Given the description of an element on the screen output the (x, y) to click on. 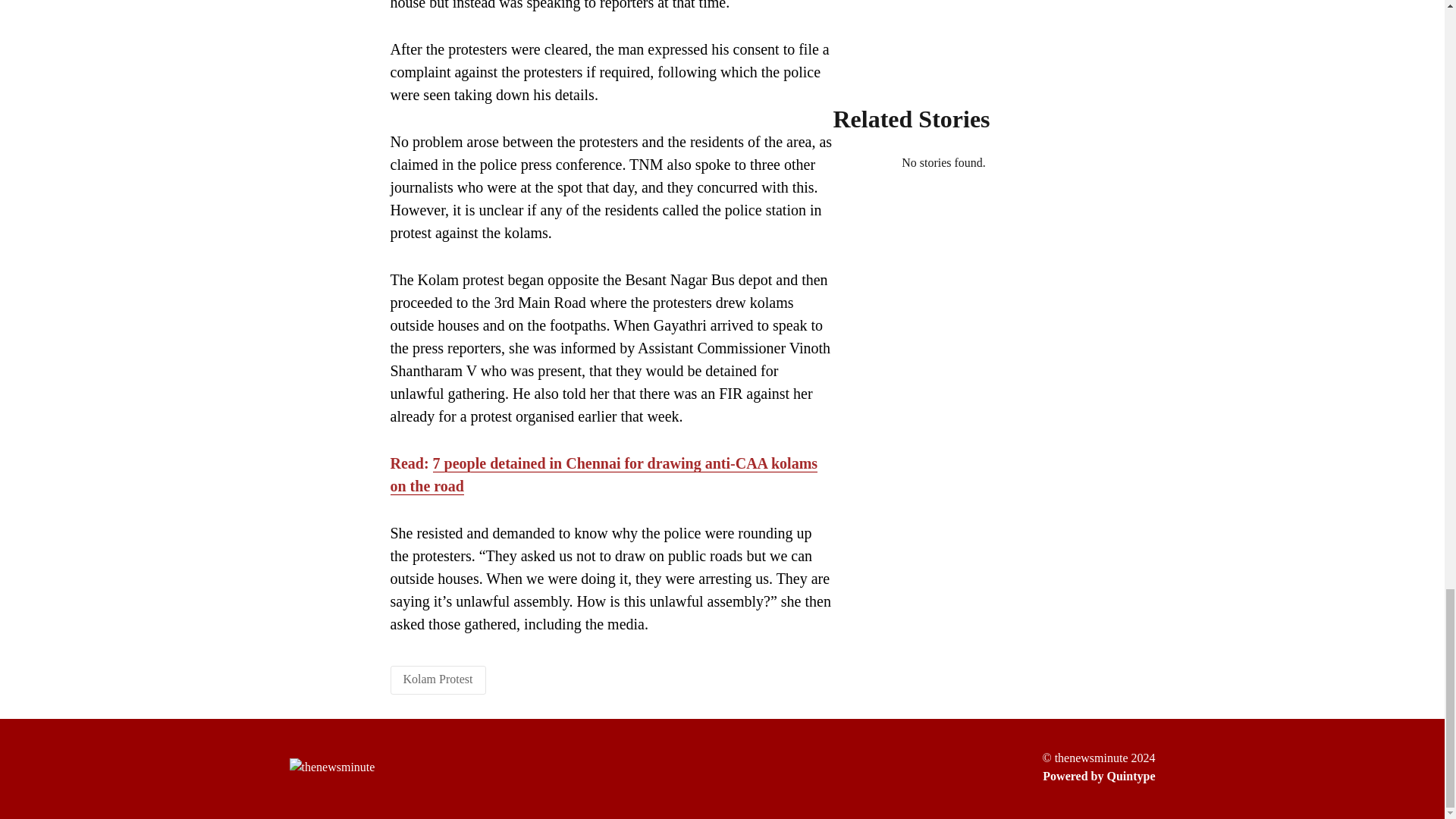
Powered by Quintype (1098, 776)
Kolam Protest (438, 677)
